Given the description of an element on the screen output the (x, y) to click on. 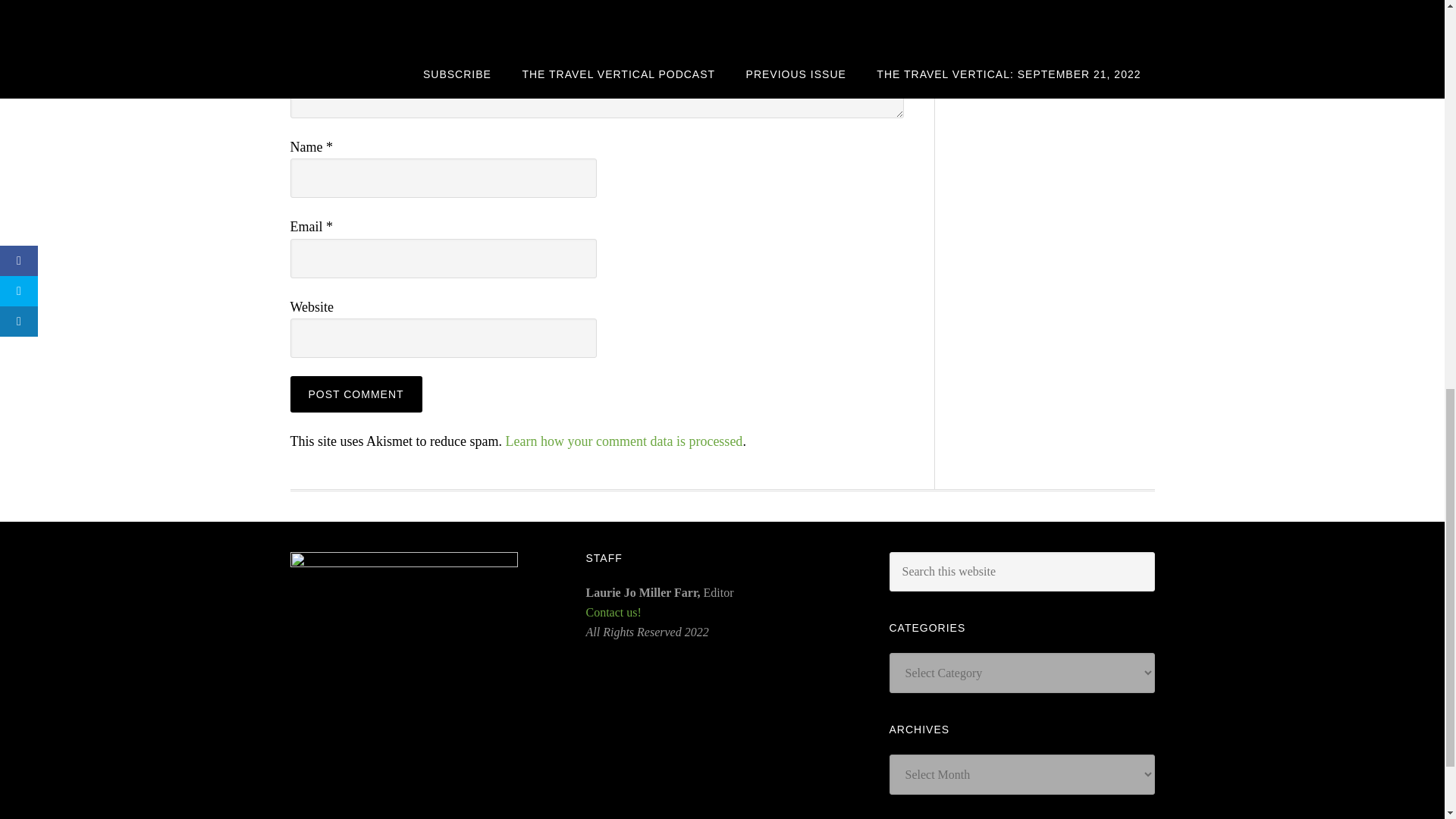
Post Comment (355, 393)
Post Comment (355, 393)
Learn how your comment data is processed (623, 441)
Contact us! (612, 612)
